Given the description of an element on the screen output the (x, y) to click on. 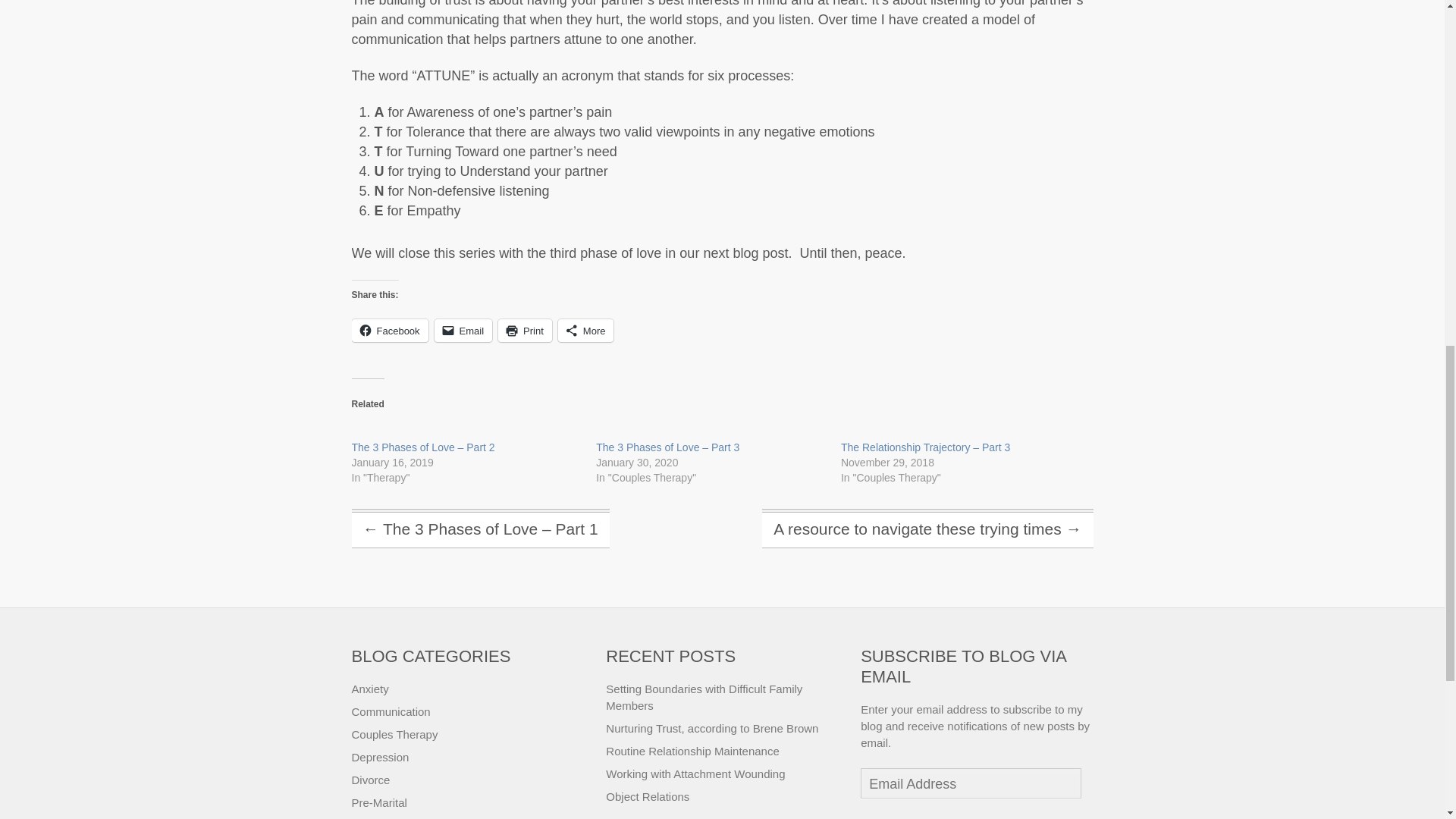
Email (463, 330)
Click to share on Facebook (390, 330)
Click to print (524, 330)
Click to email a link to a friend (463, 330)
More (585, 330)
Print (524, 330)
Depression (380, 757)
Couples Therapy (395, 734)
Anxiety (370, 688)
Communication (391, 711)
Facebook (390, 330)
